Given the description of an element on the screen output the (x, y) to click on. 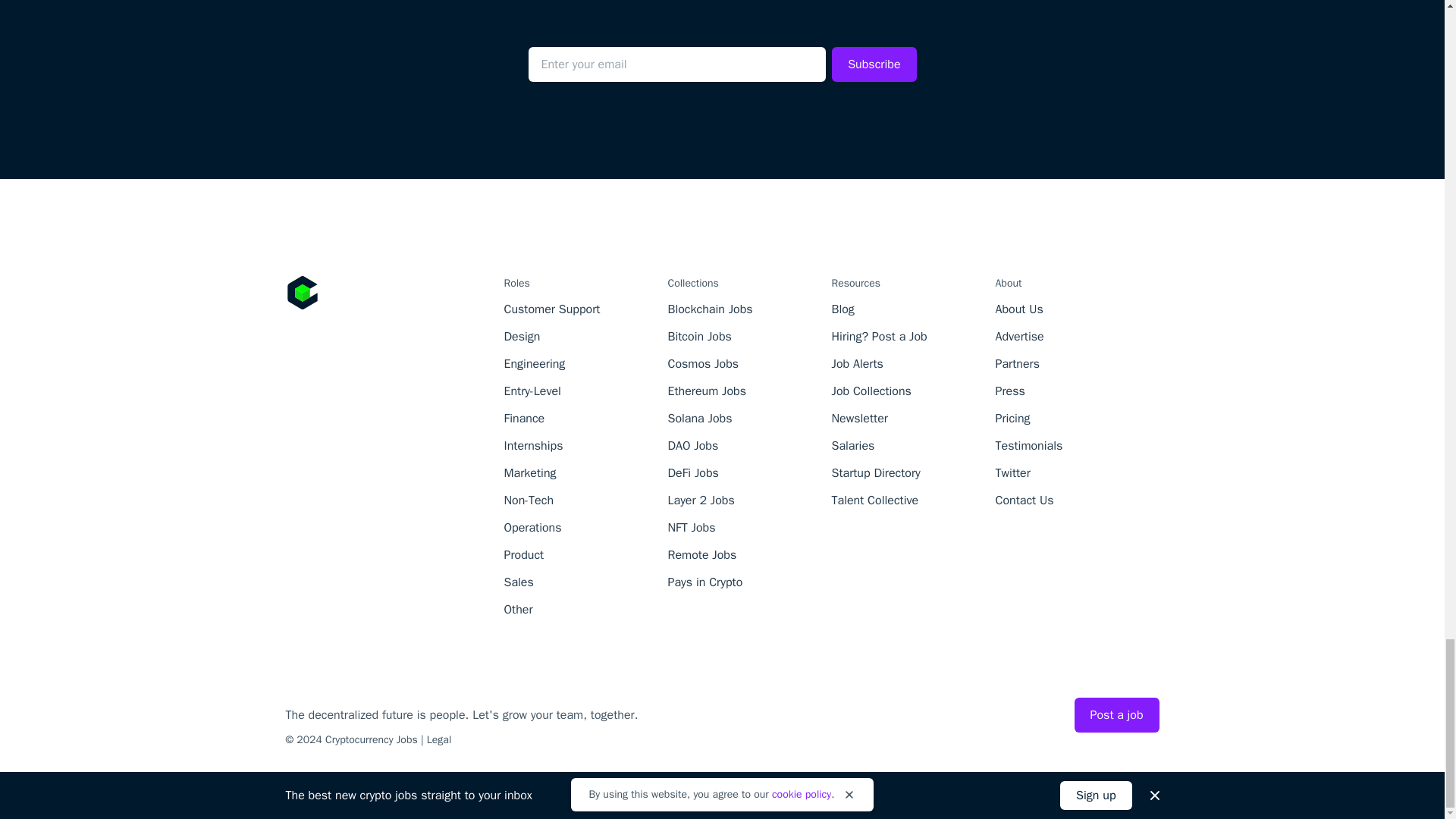
Your email address (676, 63)
Subscribe (873, 63)
